Given the description of an element on the screen output the (x, y) to click on. 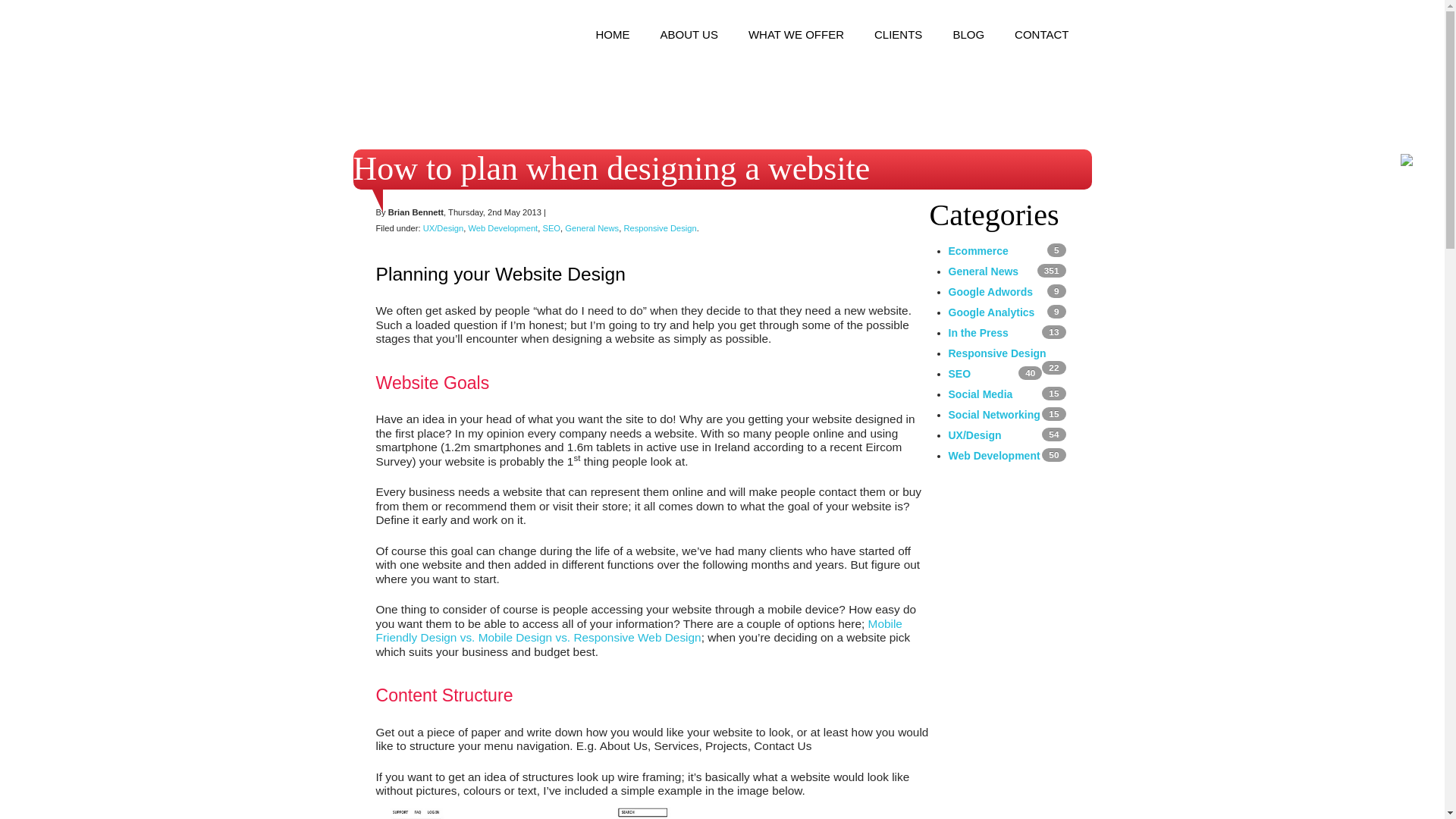
Home (612, 42)
BLOG (967, 42)
Web Development (502, 227)
Blog (967, 42)
WHAT WE OFFER (796, 42)
Scroll (1414, 788)
About Us (688, 42)
General News (591, 227)
Clients (898, 42)
